Given the description of an element on the screen output the (x, y) to click on. 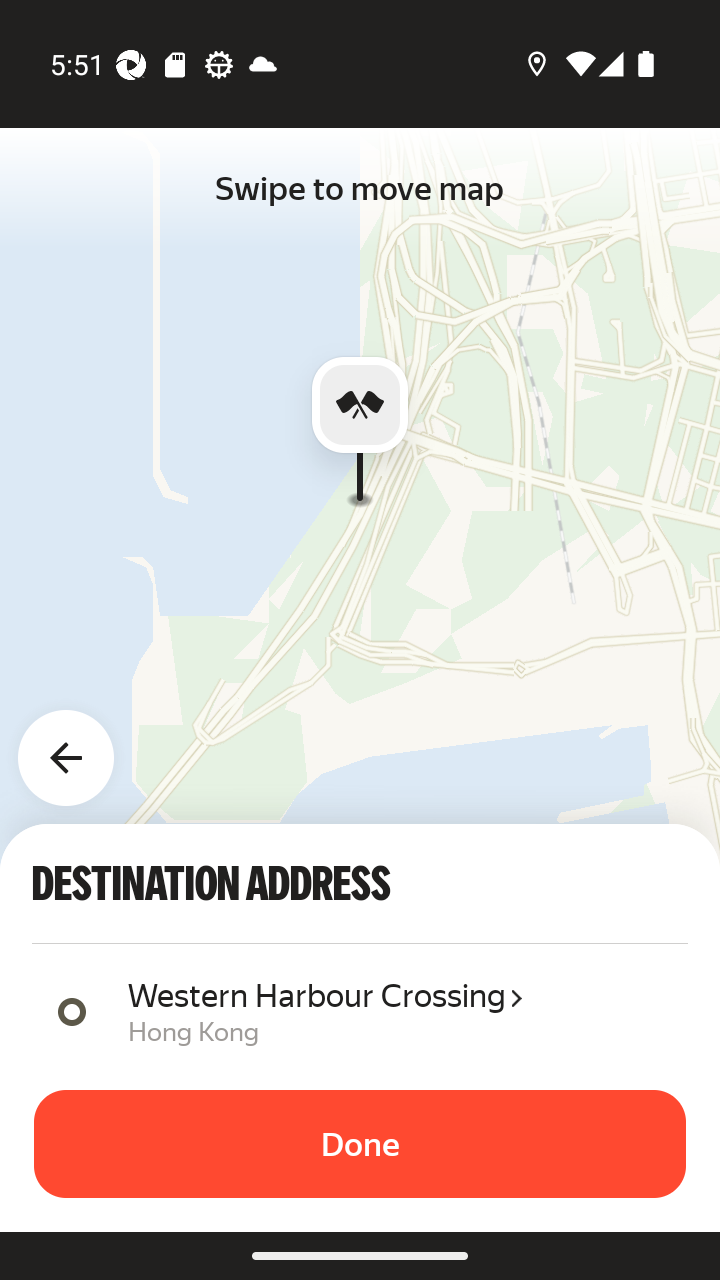
Back (78, 746)
Western Harbour Crossing   Hong Kong (399, 1010)
Done (359, 1144)
